Given the description of an element on the screen output the (x, y) to click on. 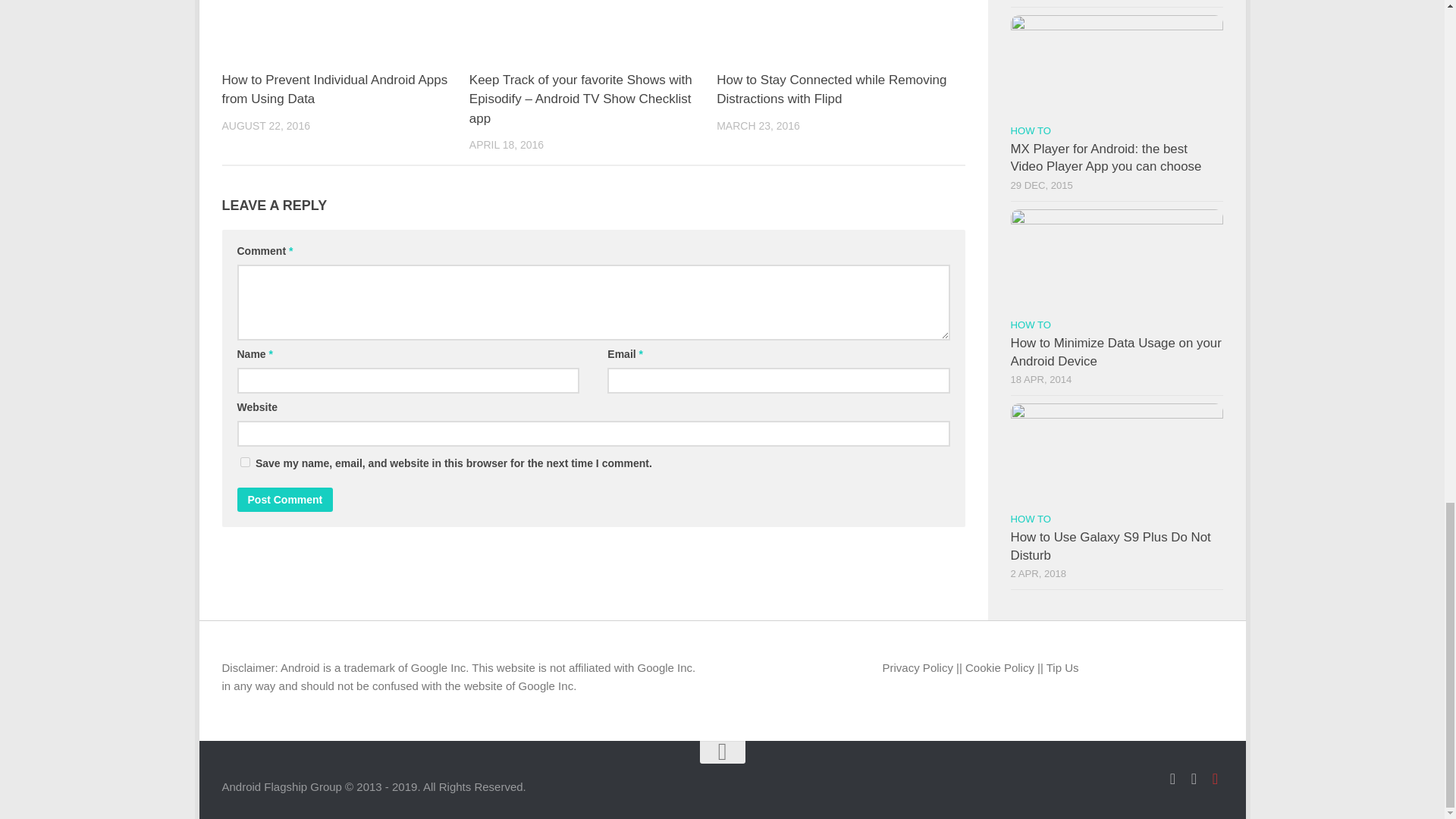
yes (244, 461)
Post Comment (284, 499)
Post Comment (284, 499)
How to Stay Connected while Removing Distractions with Flipd (831, 89)
How to Prevent Individual Android Apps from Using Data (333, 89)
